Given the description of an element on the screen output the (x, y) to click on. 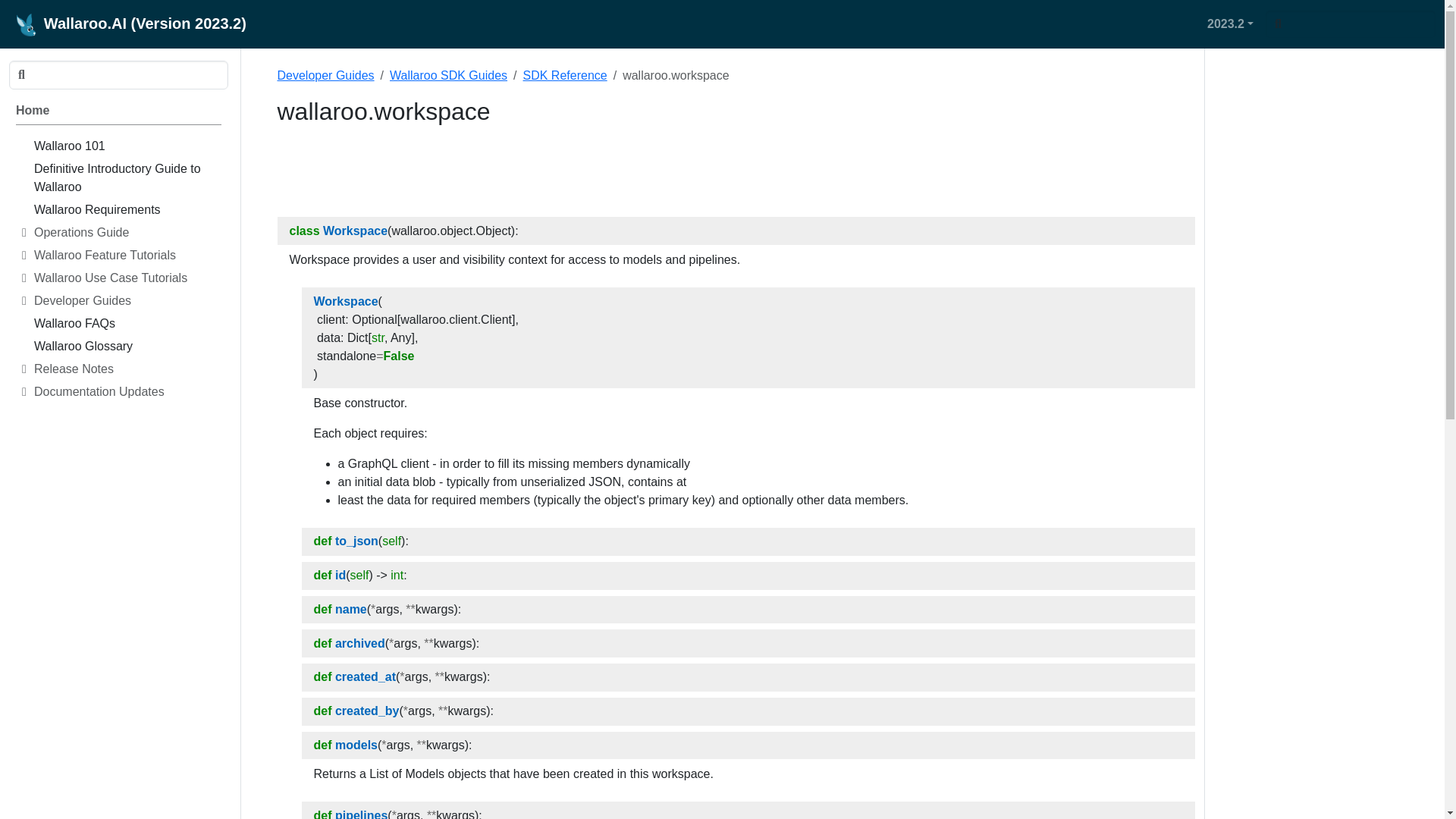
The Definitive Introductory Guide to Wallaroo (127, 179)
Home (118, 113)
Definitive Introductory Guide to Wallaroo (127, 179)
Operations Guide (127, 234)
2023.2 (1230, 24)
Wallaroo Requirements (127, 211)
Wallaroo Operations Guide (127, 234)
Wallaroo Documentation Site (118, 113)
2023.2 (1233, 24)
Wallaroo 101 (127, 148)
